Given the description of an element on the screen output the (x, y) to click on. 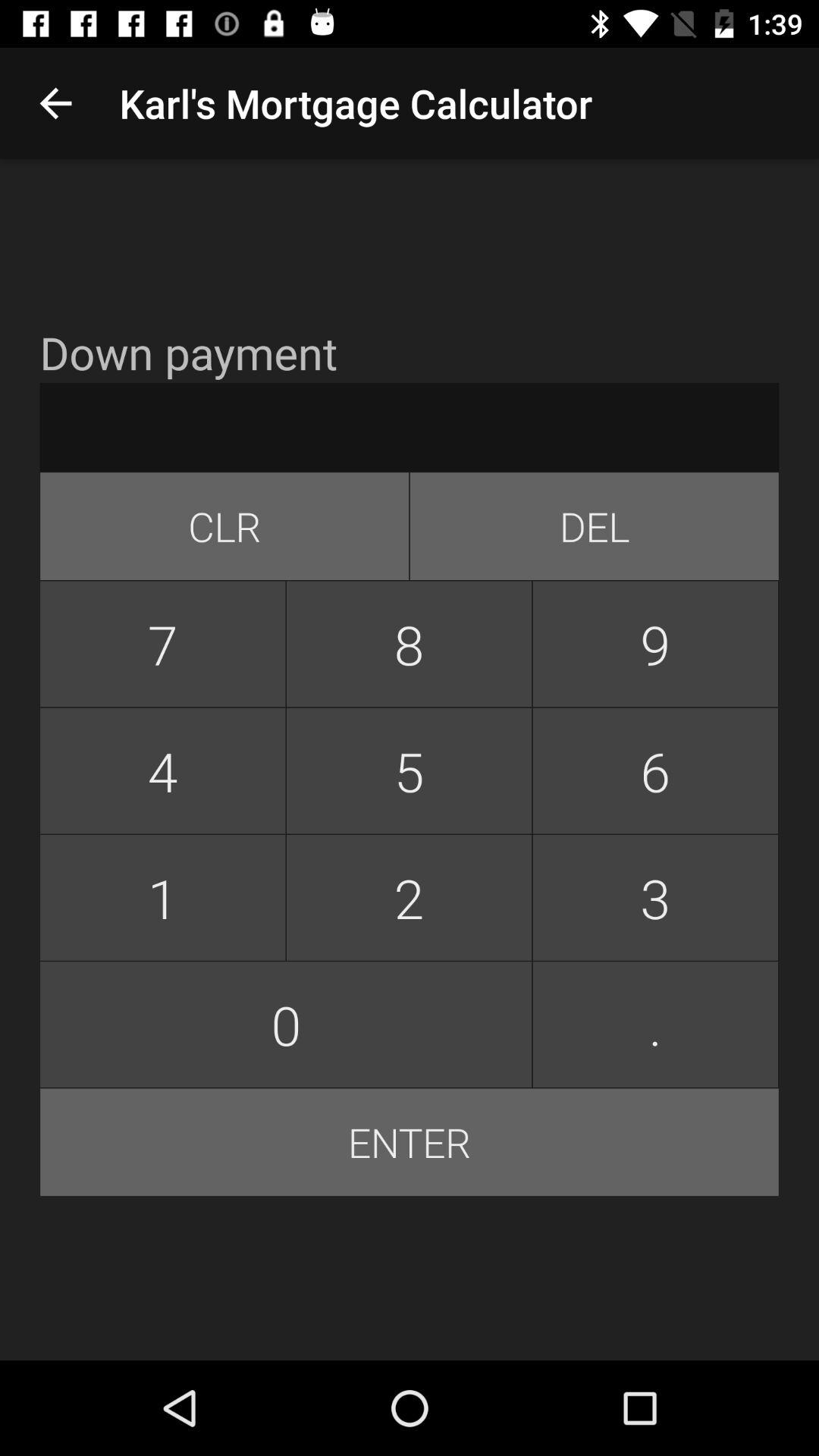
launch the button to the left of del button (224, 526)
